Given the description of an element on the screen output the (x, y) to click on. 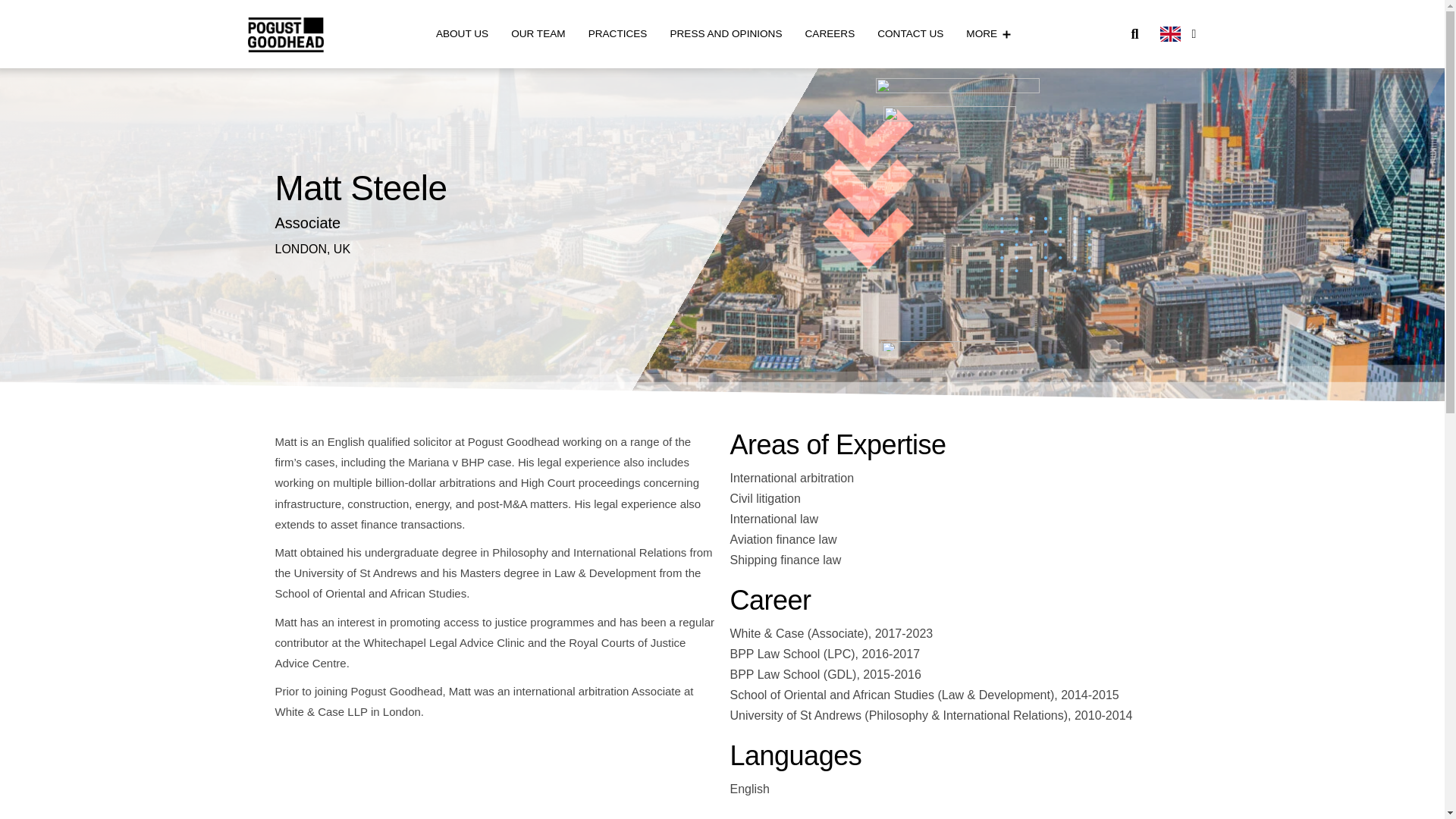
PRACTICES (617, 34)
CONTACT US (910, 34)
PRESS AND OPINIONS (725, 34)
MORE (991, 34)
OUR TEAM (537, 34)
English (1179, 33)
CAREERS (829, 34)
ABOUT US (462, 34)
